Given the description of an element on the screen output the (x, y) to click on. 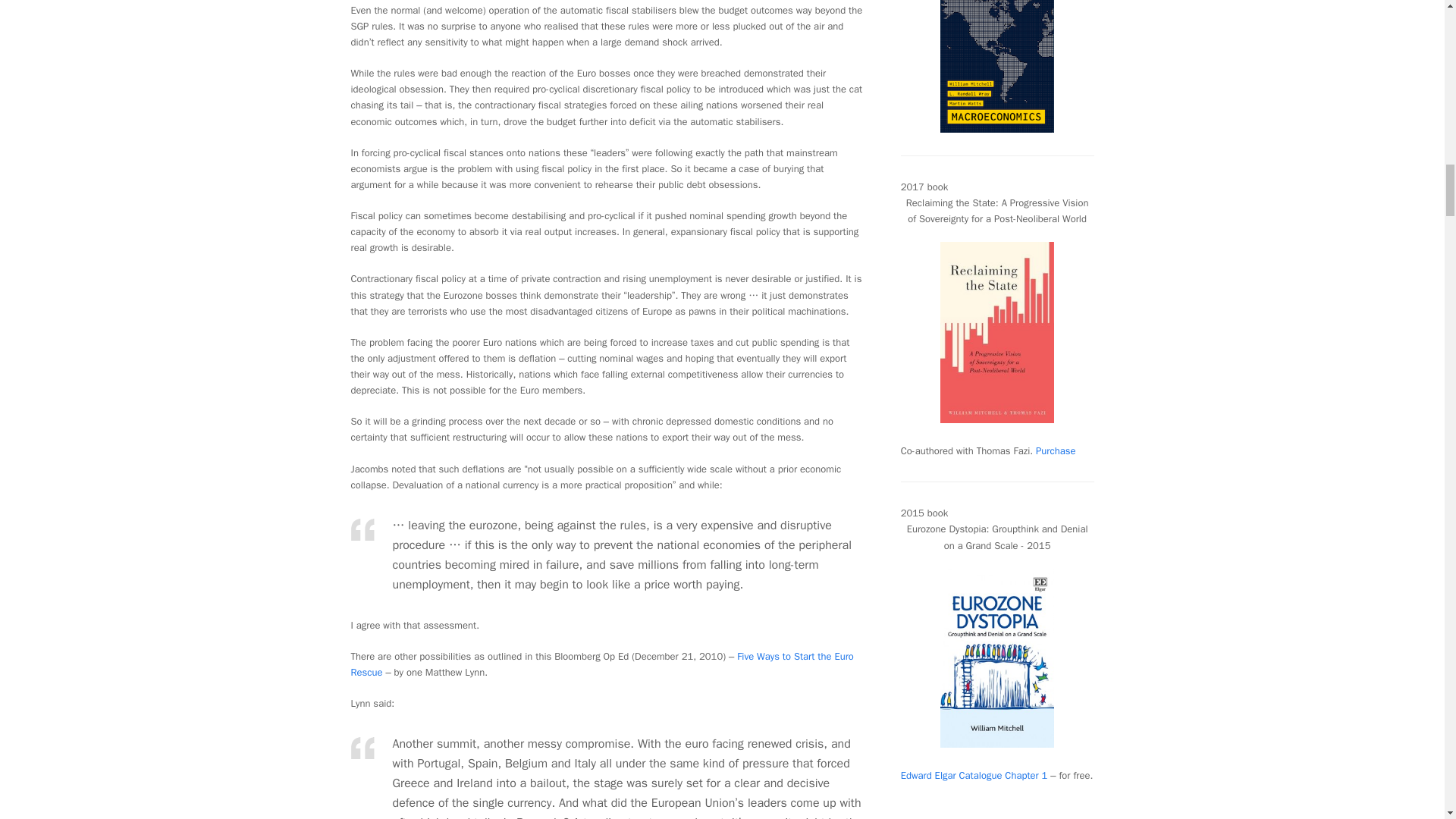
Five Ways to Start the Euro Rescue (601, 664)
